Given the description of an element on the screen output the (x, y) to click on. 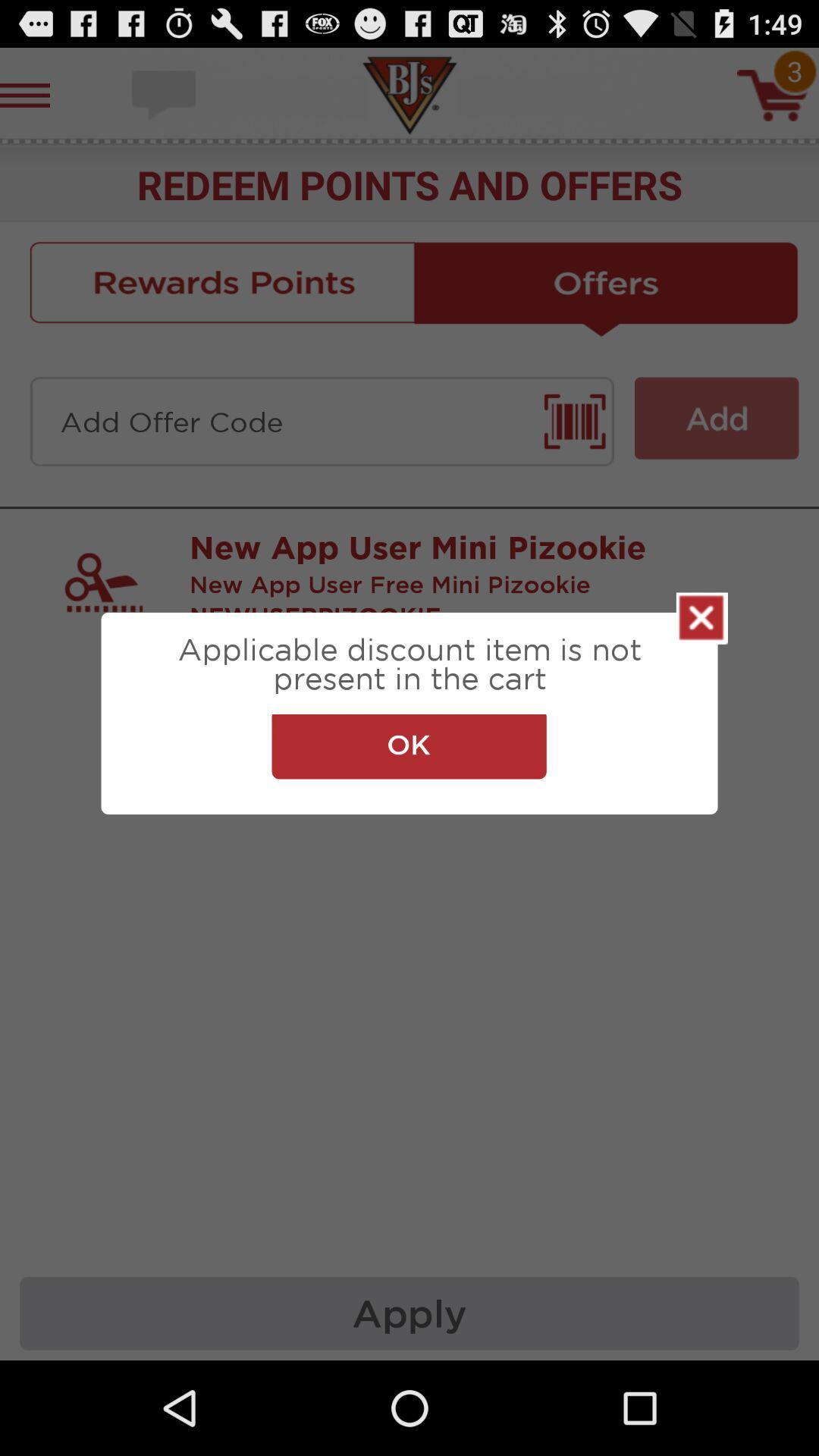
press item below the applicable discount item icon (408, 746)
